Given the description of an element on the screen output the (x, y) to click on. 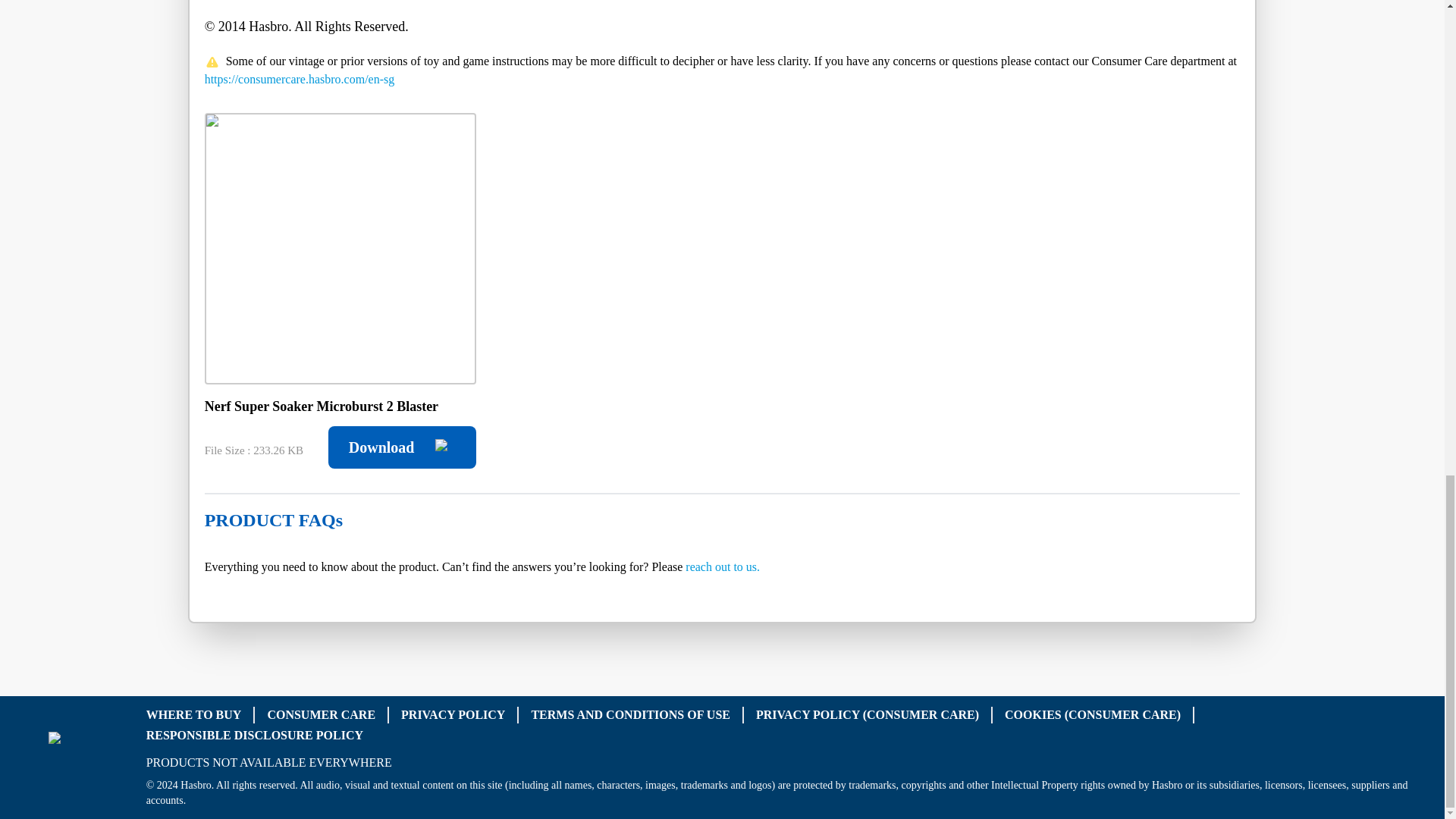
WHERE TO BUY (194, 714)
TERMS AND CONDITIONS OF USE (630, 714)
Download (402, 446)
PRIVACY POLICY (453, 714)
RESPONSIBLE DISCLOSURE POLICY (254, 734)
CONSUMER CARE (320, 714)
reach out to us. (722, 566)
